Given the description of an element on the screen output the (x, y) to click on. 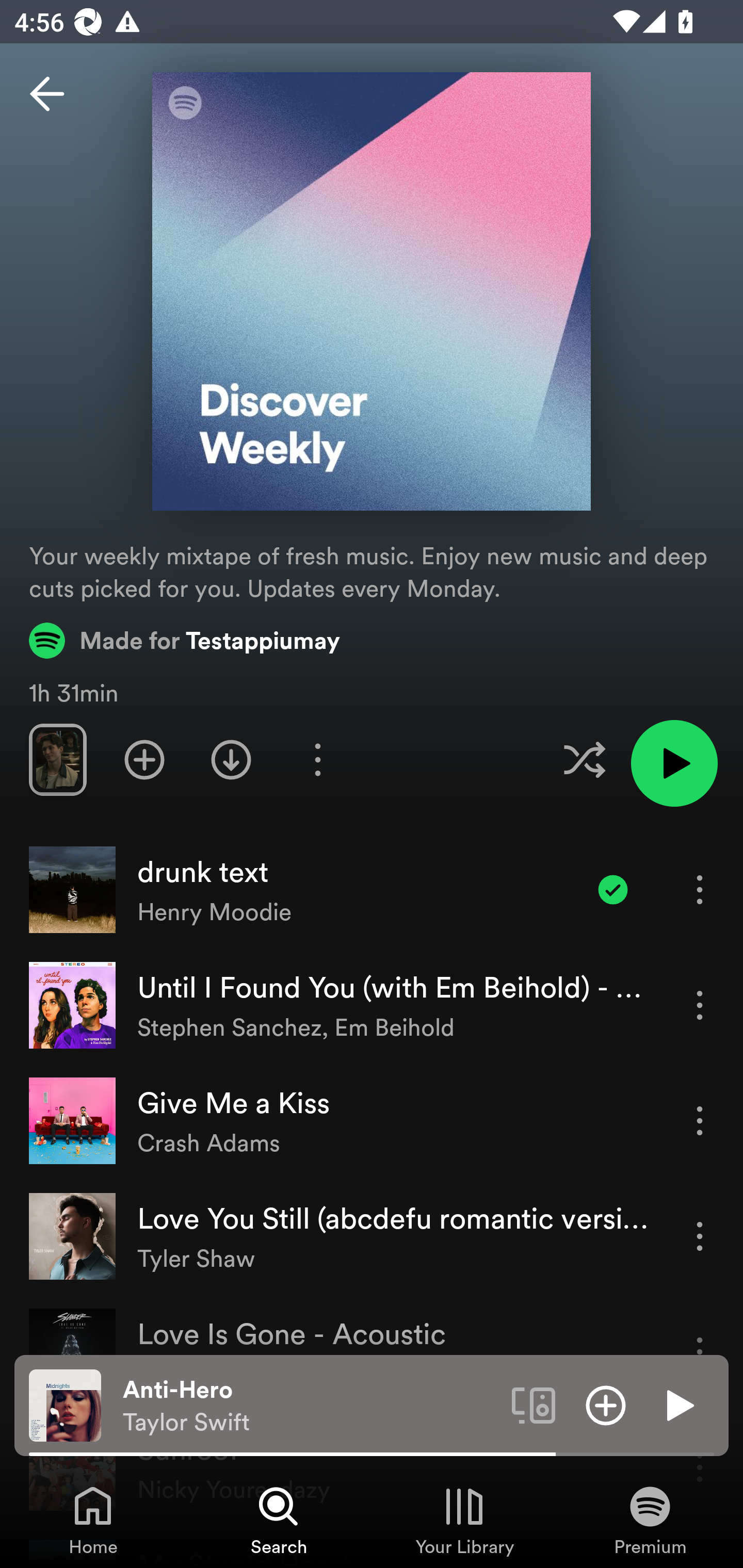
Back (46, 93)
Made for Testappiumay (184, 640)
Swipe through previews of tracks in this playlist. (57, 759)
Add playlist to Your Library (144, 759)
Download (230, 759)
More options for playlist Discover Weekly (317, 759)
Enable shuffle for this playlist (583, 759)
Play playlist (674, 763)
Item added (612, 889)
More options for song drunk text (699, 889)
More options for song Give Me a Kiss (699, 1120)
Anti-Hero Taylor Swift (309, 1405)
The cover art of the currently playing track (64, 1404)
Connect to a device. Opens the devices menu (533, 1404)
Add item (605, 1404)
Play (677, 1404)
Home, Tab 1 of 4 Home Home (92, 1519)
Search, Tab 2 of 4 Search Search (278, 1519)
Your Library, Tab 3 of 4 Your Library Your Library (464, 1519)
Premium, Tab 4 of 4 Premium Premium (650, 1519)
